Given the description of an element on the screen output the (x, y) to click on. 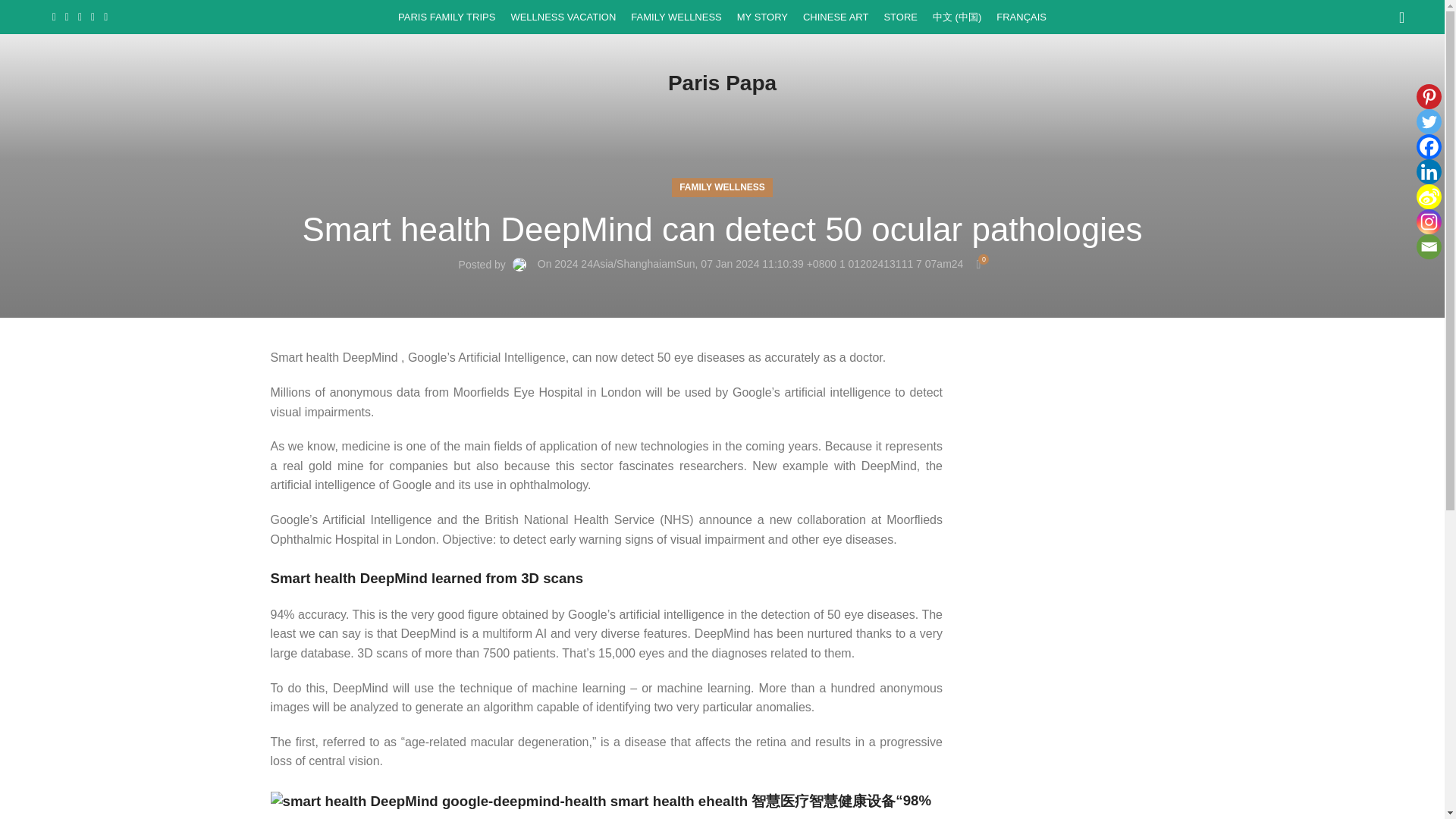
Pinterest (1428, 96)
Facebook (1428, 146)
Twitter (1428, 121)
FAMILY WELLNESS (675, 16)
WELLNESS VACATION (563, 16)
0 (978, 264)
MY STORY (761, 16)
Email (1428, 246)
Sina Weibo (1428, 196)
FAMILY WELLNESS (722, 187)
PARIS FAMILY TRIPS (446, 16)
Instagram (1428, 221)
Linkedin (1428, 171)
STORE (900, 16)
CHINESE ART (835, 16)
